Given the description of an element on the screen output the (x, y) to click on. 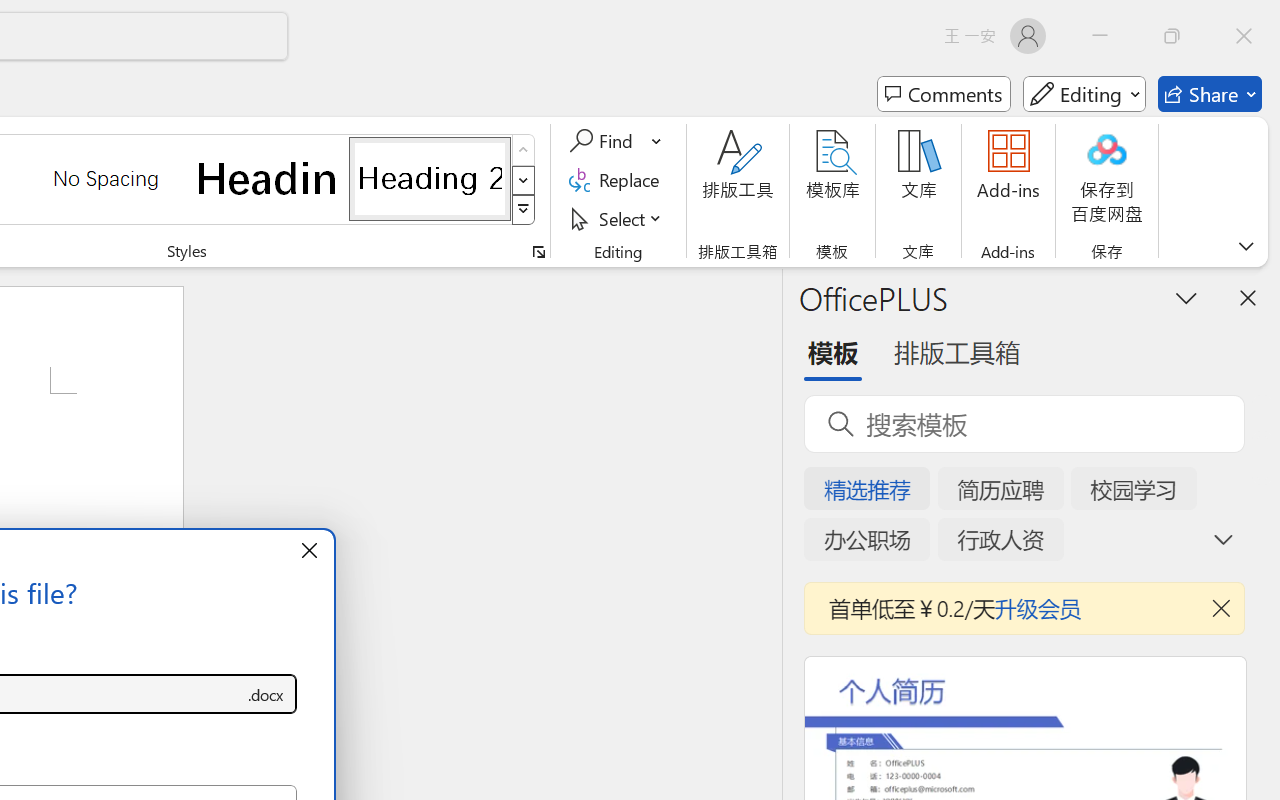
Styles... (538, 252)
Heading 2 (429, 178)
Heading 1 (267, 178)
Restore Down (1172, 36)
Styles (523, 209)
Task Pane Options (1186, 297)
More Options (657, 141)
